Given the description of an element on the screen output the (x, y) to click on. 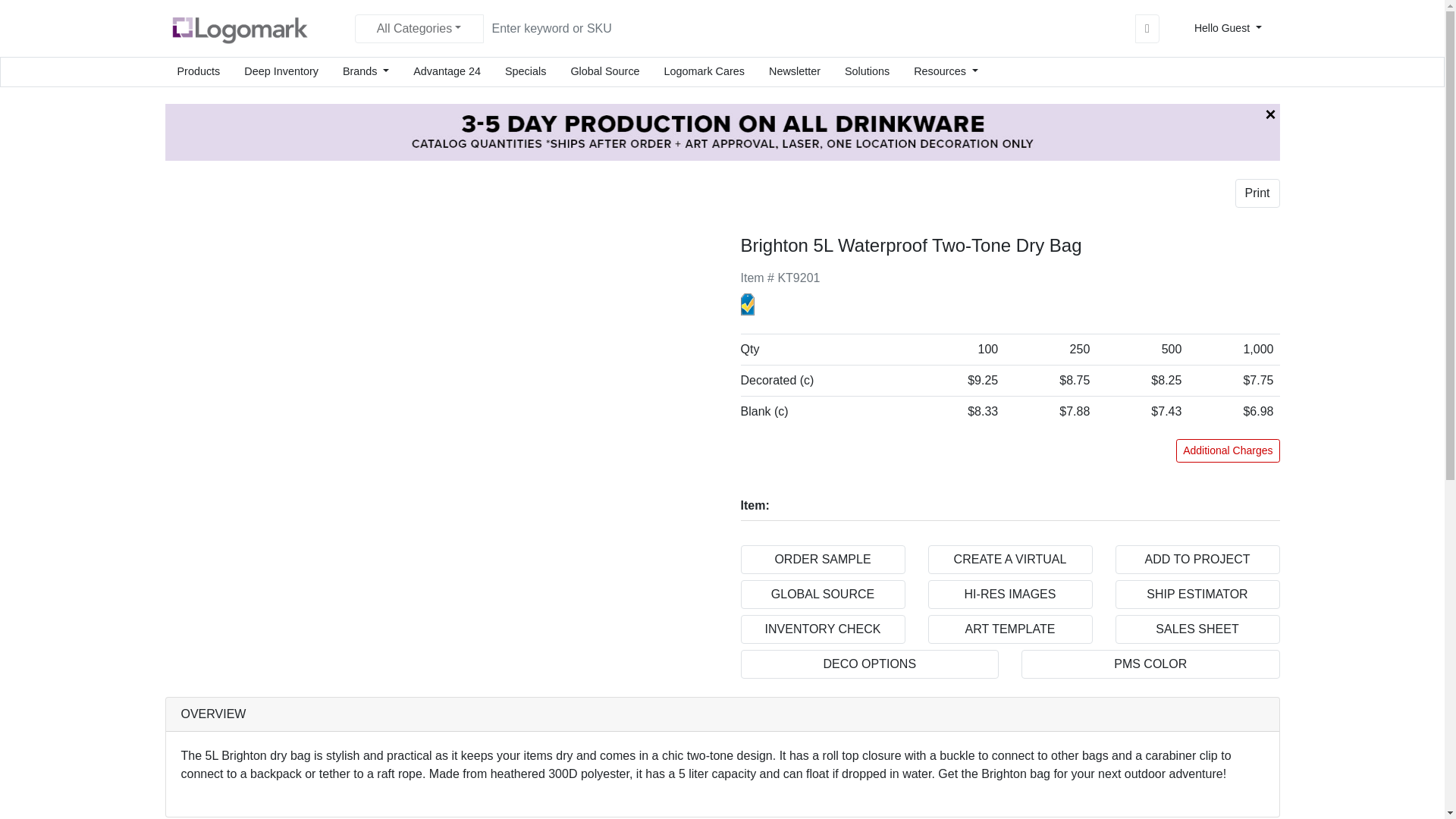
Deep Inventory (280, 71)
All Categories (419, 27)
Hello Guest (1231, 28)
Order Sample (821, 559)
Print Product Sales Sheet (1256, 193)
Products (198, 71)
Brands (365, 70)
